Given the description of an element on the screen output the (x, y) to click on. 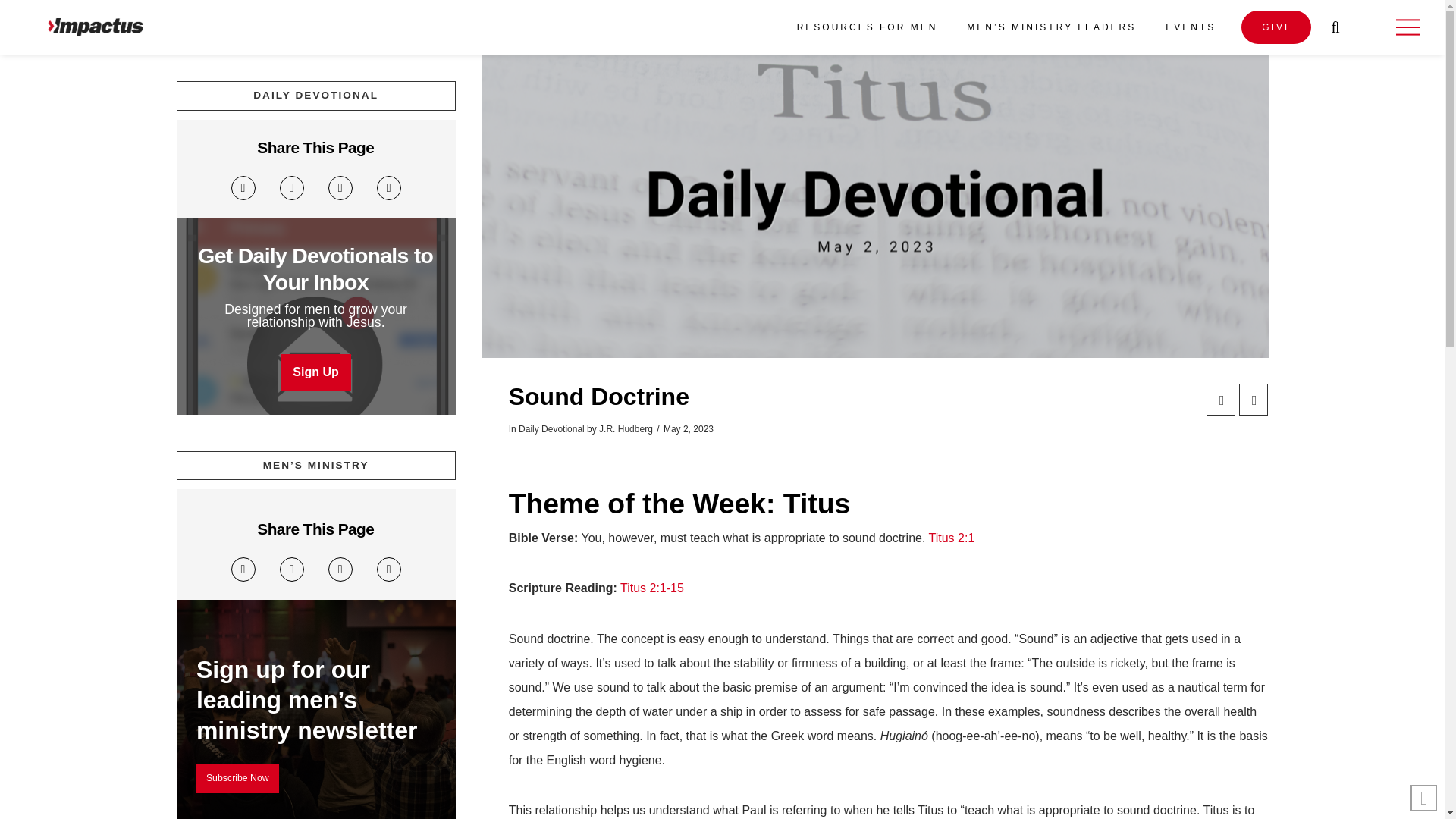
Daily Devotional (551, 429)
J.R. Hudberg (625, 429)
RESOURCES FOR MEN (866, 27)
Titus 2:1-15 (652, 587)
Titus 2:1 (951, 537)
GIVE (1276, 27)
Back to Top (1423, 797)
EVENTS (1189, 27)
